Given the description of an element on the screen output the (x, y) to click on. 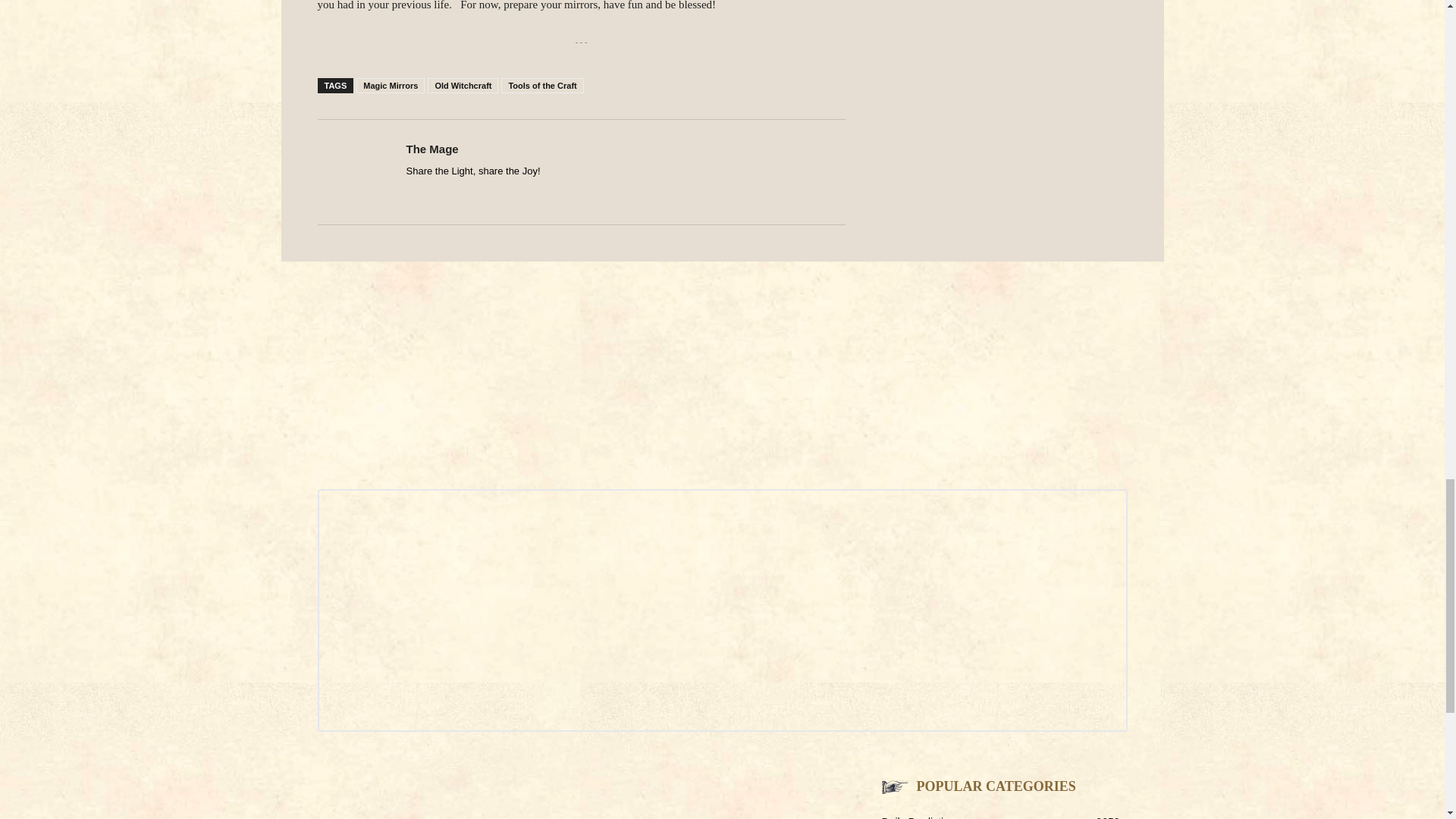
Old Witchcraft (462, 85)
Magic Mirrors (390, 85)
Tools of the Craft (541, 85)
The Mage (432, 148)
